Given the description of an element on the screen output the (x, y) to click on. 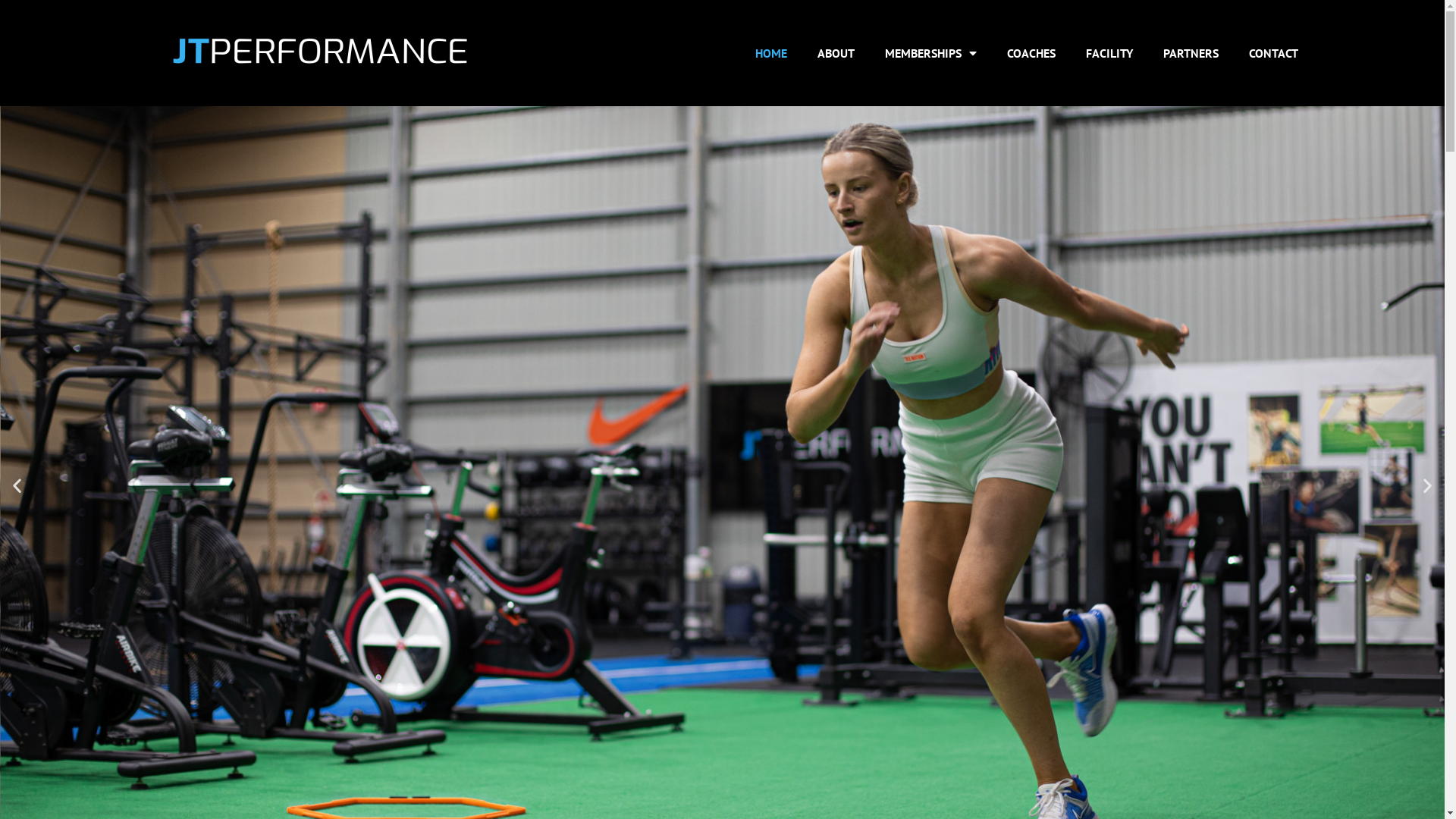
ABOUT Element type: text (835, 52)
PARTNERS Element type: text (1190, 52)
COACHES Element type: text (1030, 52)
jtperformance-logo-transparent Element type: hover (320, 53)
HOME Element type: text (771, 52)
CONTACT Element type: text (1273, 52)
FACILITY Element type: text (1109, 52)
MEMBERSHIPS Element type: text (930, 52)
